Given the description of an element on the screen output the (x, y) to click on. 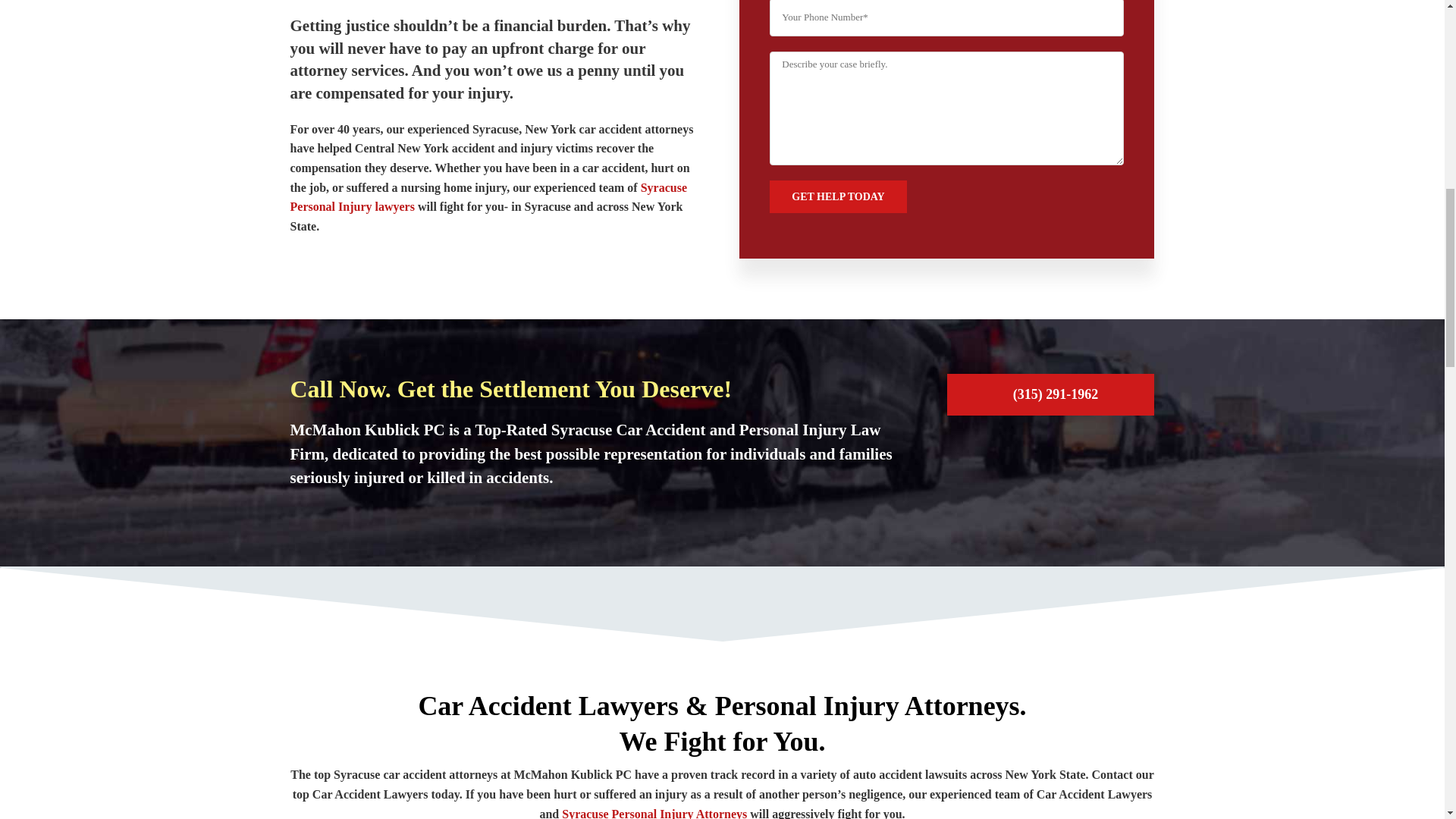
GET HELP TODAY (837, 196)
